Given the description of an element on the screen output the (x, y) to click on. 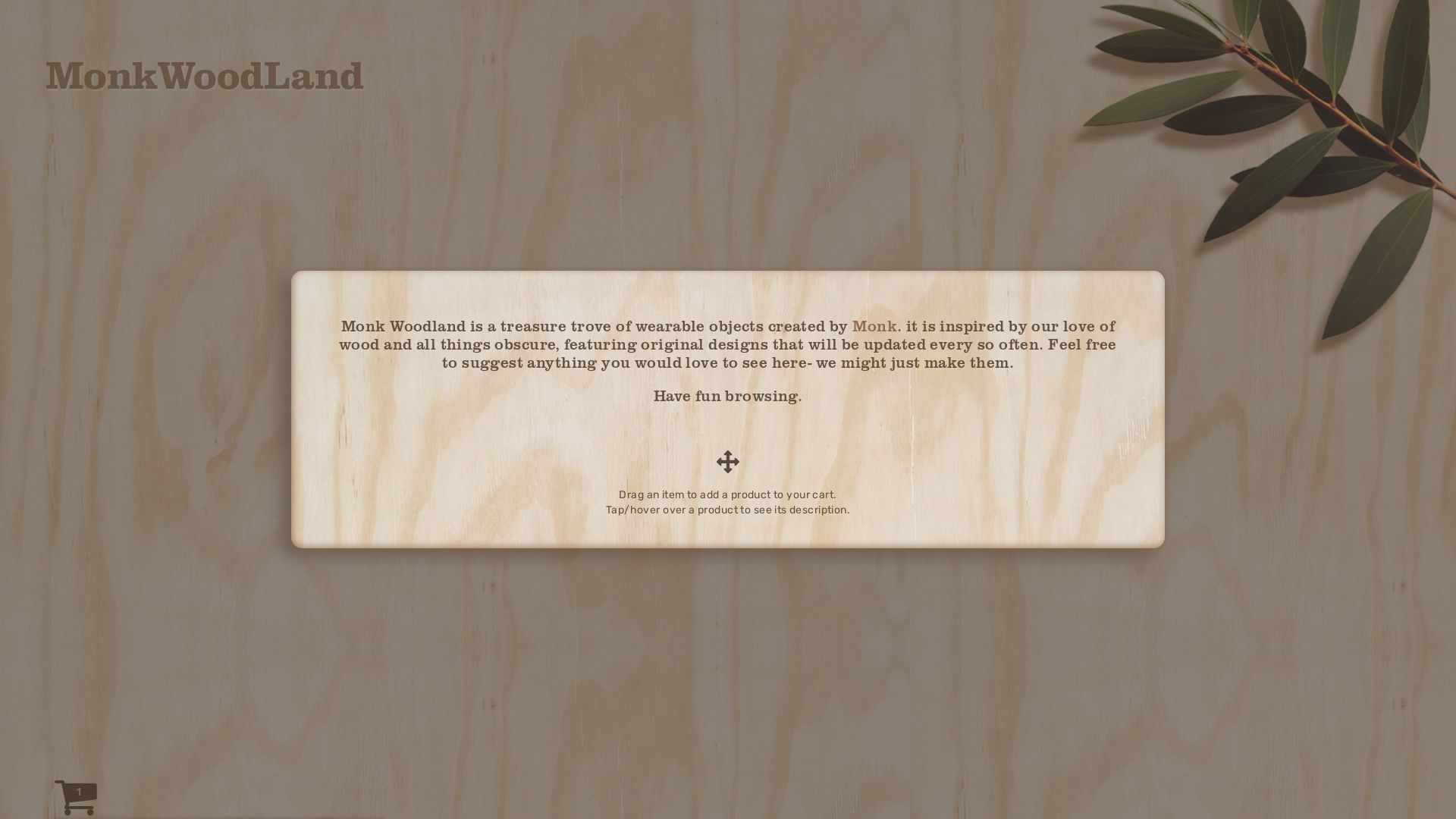
MonkWoodLand Element type: text (204, 73)
Monk Element type: text (874, 324)
